Given the description of an element on the screen output the (x, y) to click on. 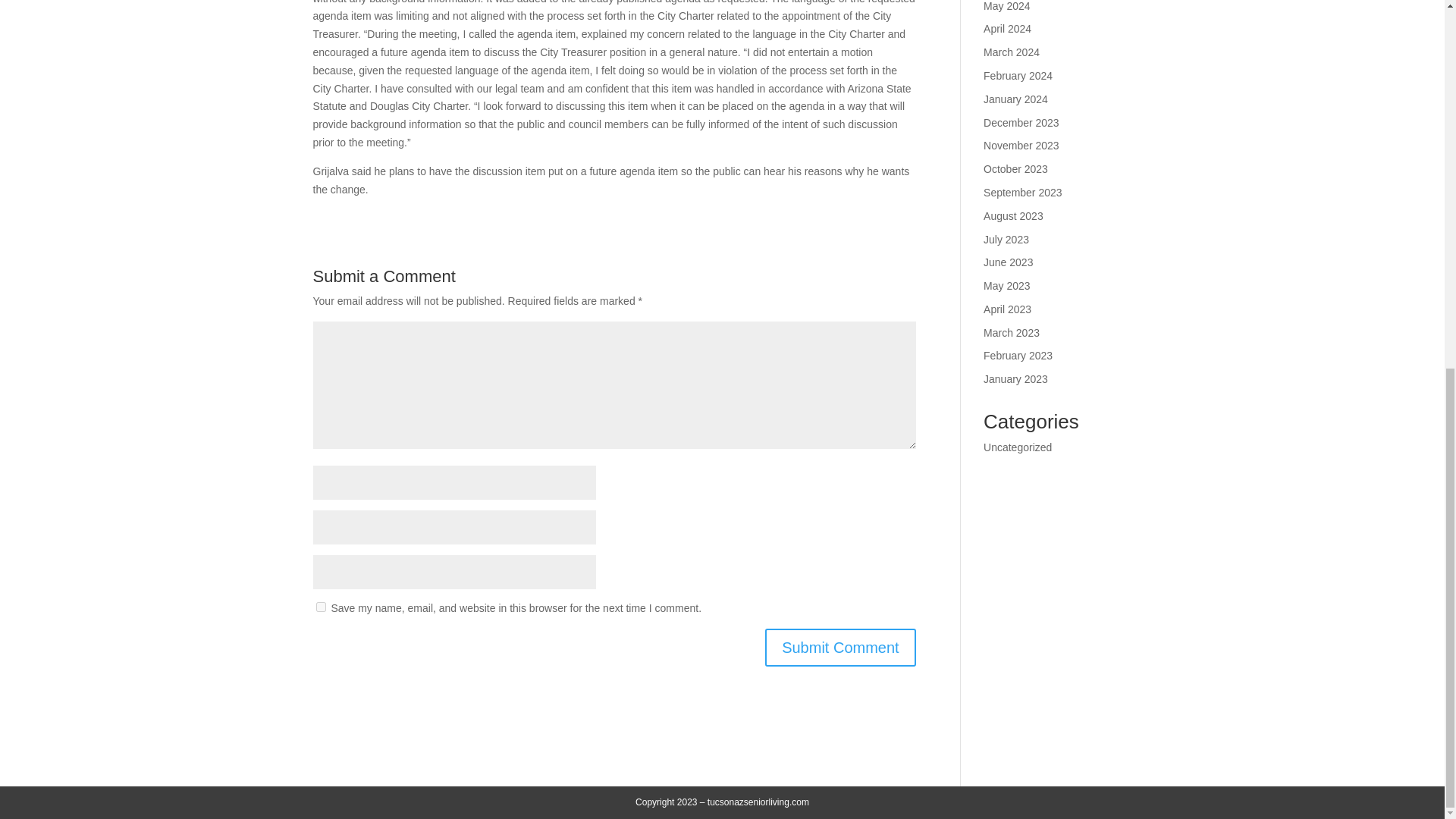
January 2024 (1016, 99)
May 2024 (1006, 6)
October 2023 (1016, 168)
April 2024 (1007, 28)
September 2023 (1023, 192)
December 2023 (1021, 122)
June 2023 (1008, 262)
yes (319, 606)
August 2023 (1013, 215)
Submit Comment (840, 647)
